Given the description of an element on the screen output the (x, y) to click on. 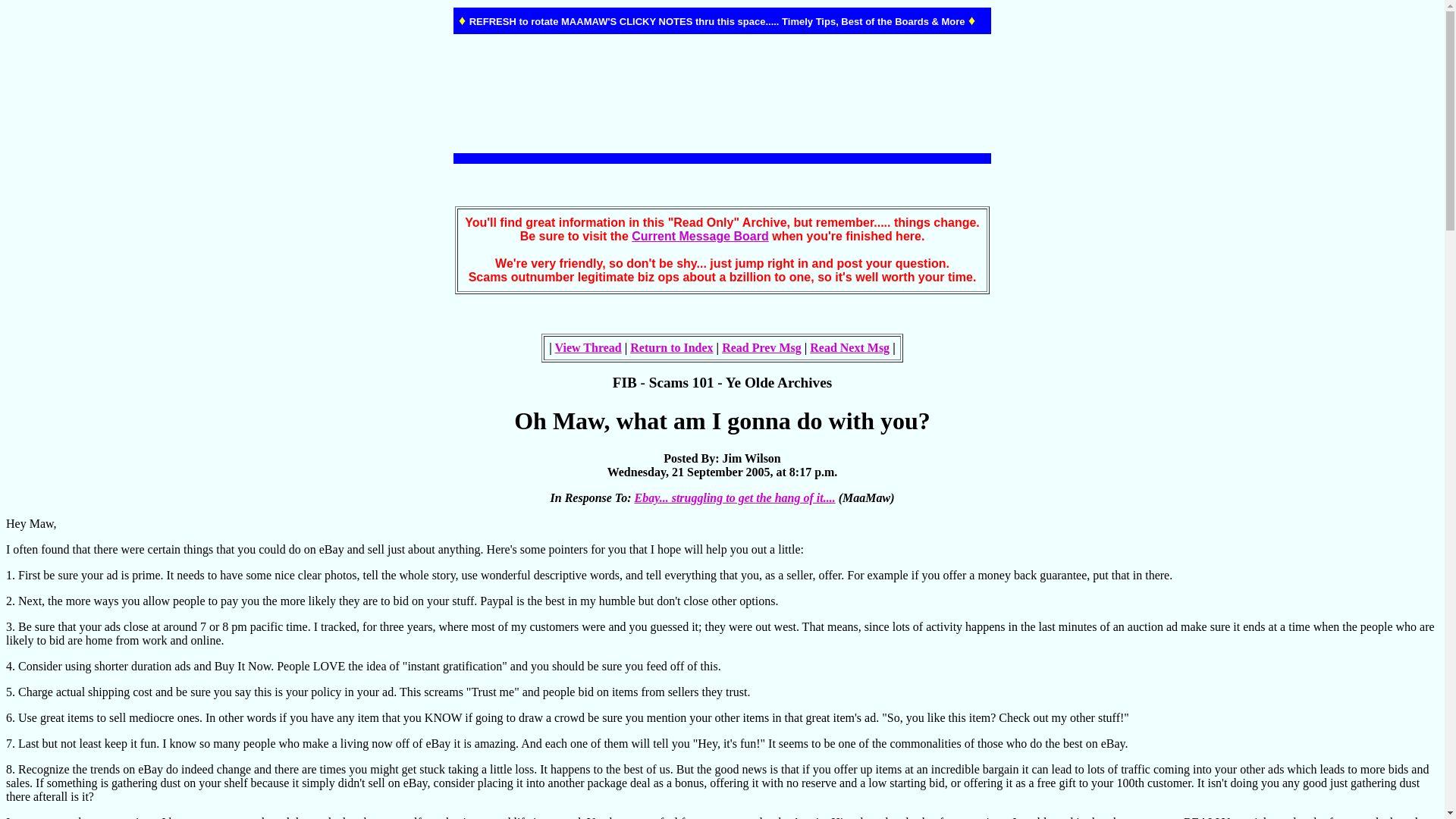
Read Next Msg (849, 347)
View Thread (587, 347)
Return to Index (671, 347)
Read Prev Msg (762, 347)
Ebay... struggling to get the hang of it.... (733, 497)
Current Message Board (699, 236)
